Given the description of an element on the screen output the (x, y) to click on. 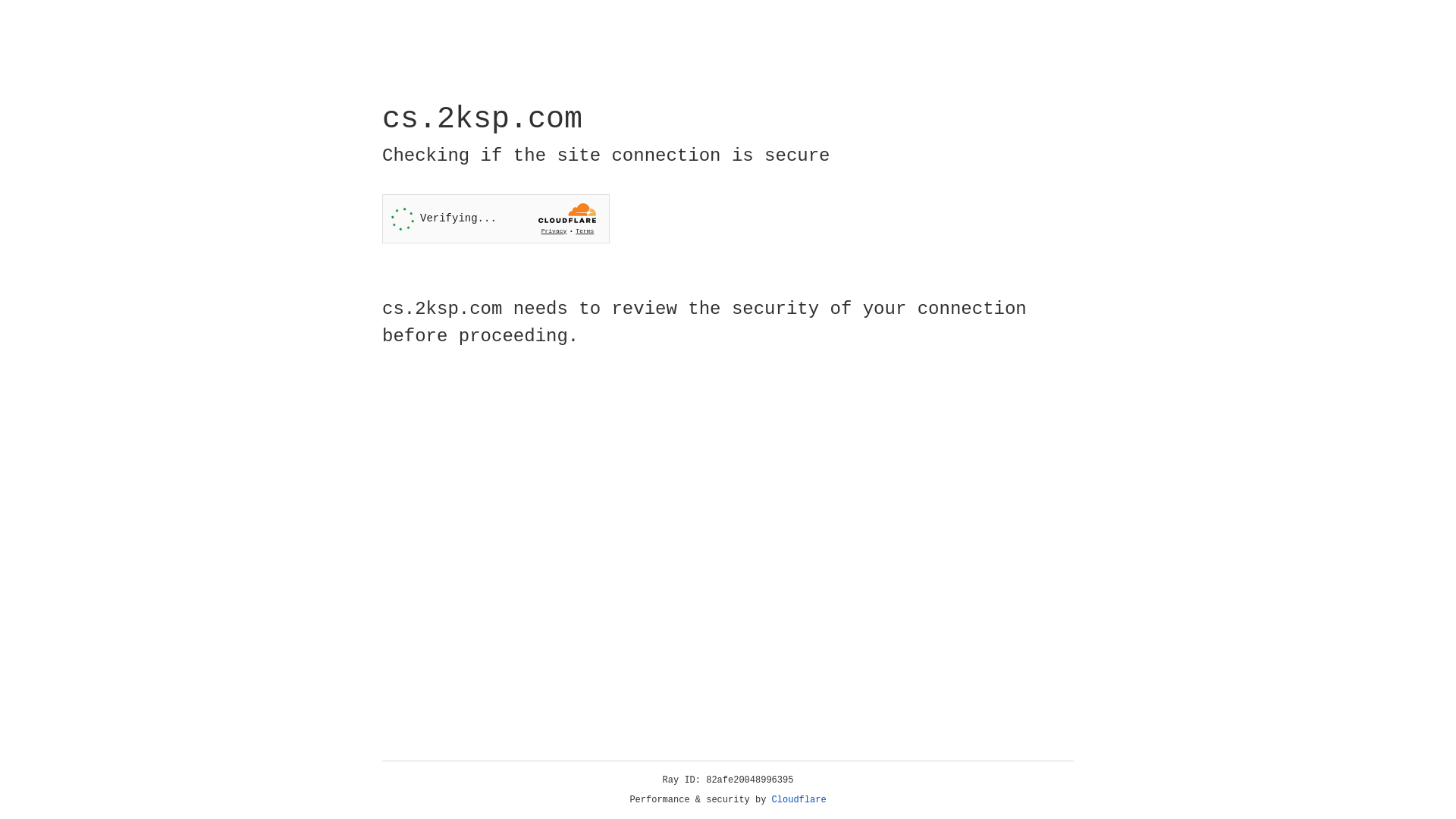
Cloudflare Element type: text (798, 799)
Widget containing a Cloudflare security challenge Element type: hover (495, 218)
